Given the description of an element on the screen output the (x, y) to click on. 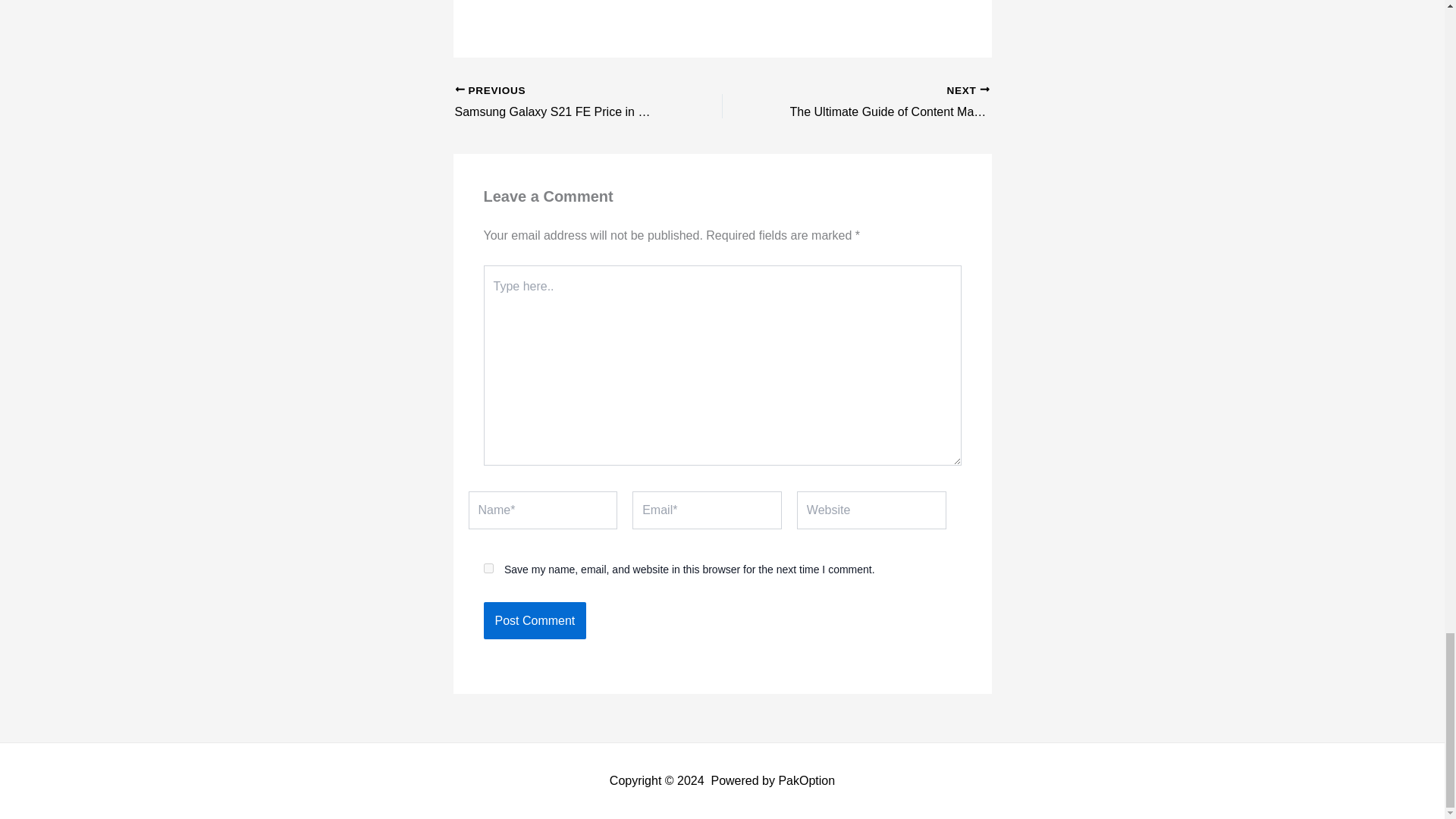
The Ultimate Guide of Content Marketing in 2022 (561, 102)
Post Comment (882, 102)
Post Comment (534, 620)
Samsung Galaxy S21 FE Price in Pakistan (534, 620)
yes (882, 102)
